Given the description of an element on the screen output the (x, y) to click on. 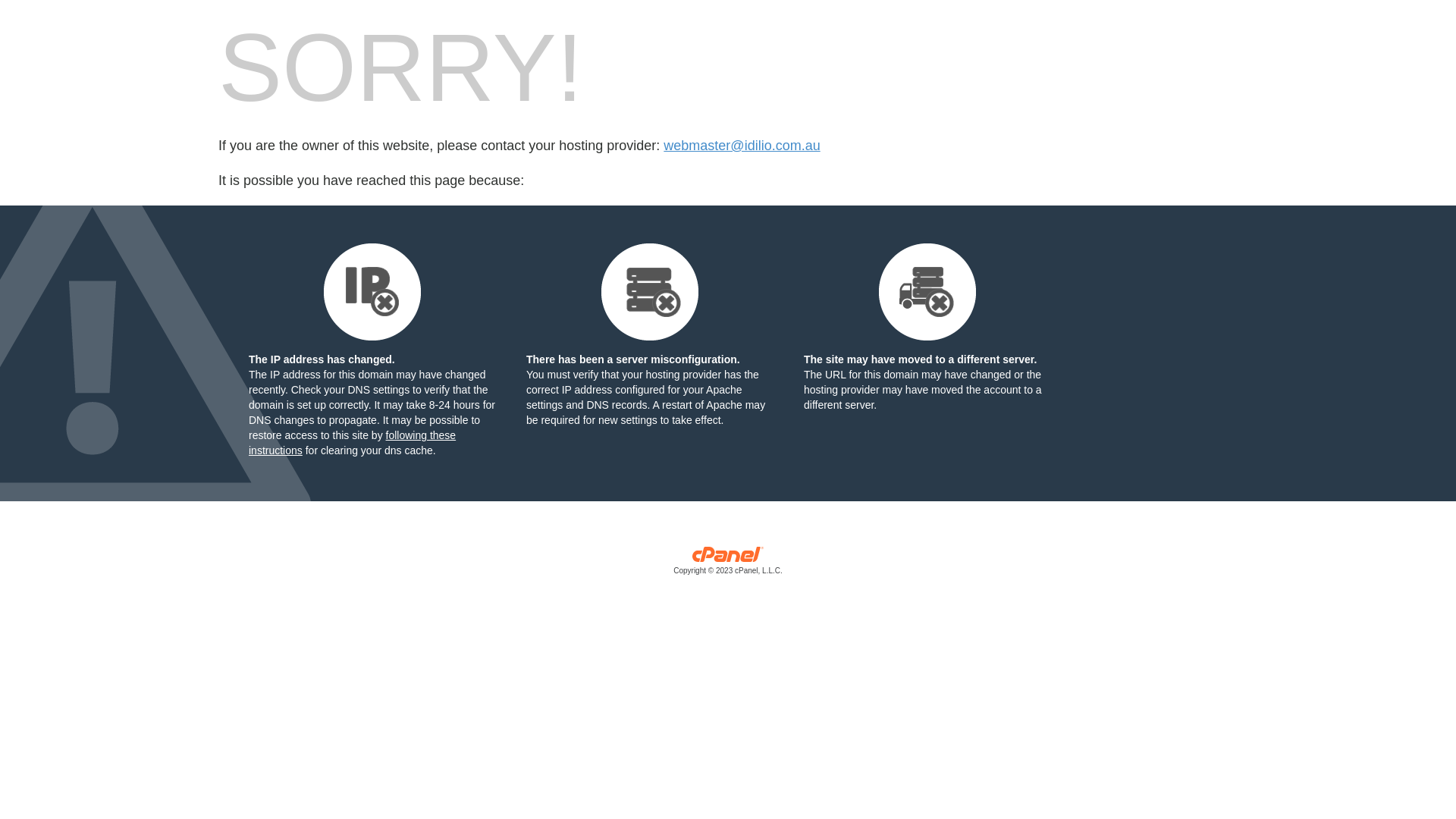
following these instructions Element type: text (351, 442)
webmaster@idilio.com.au Element type: text (741, 145)
